Given the description of an element on the screen output the (x, y) to click on. 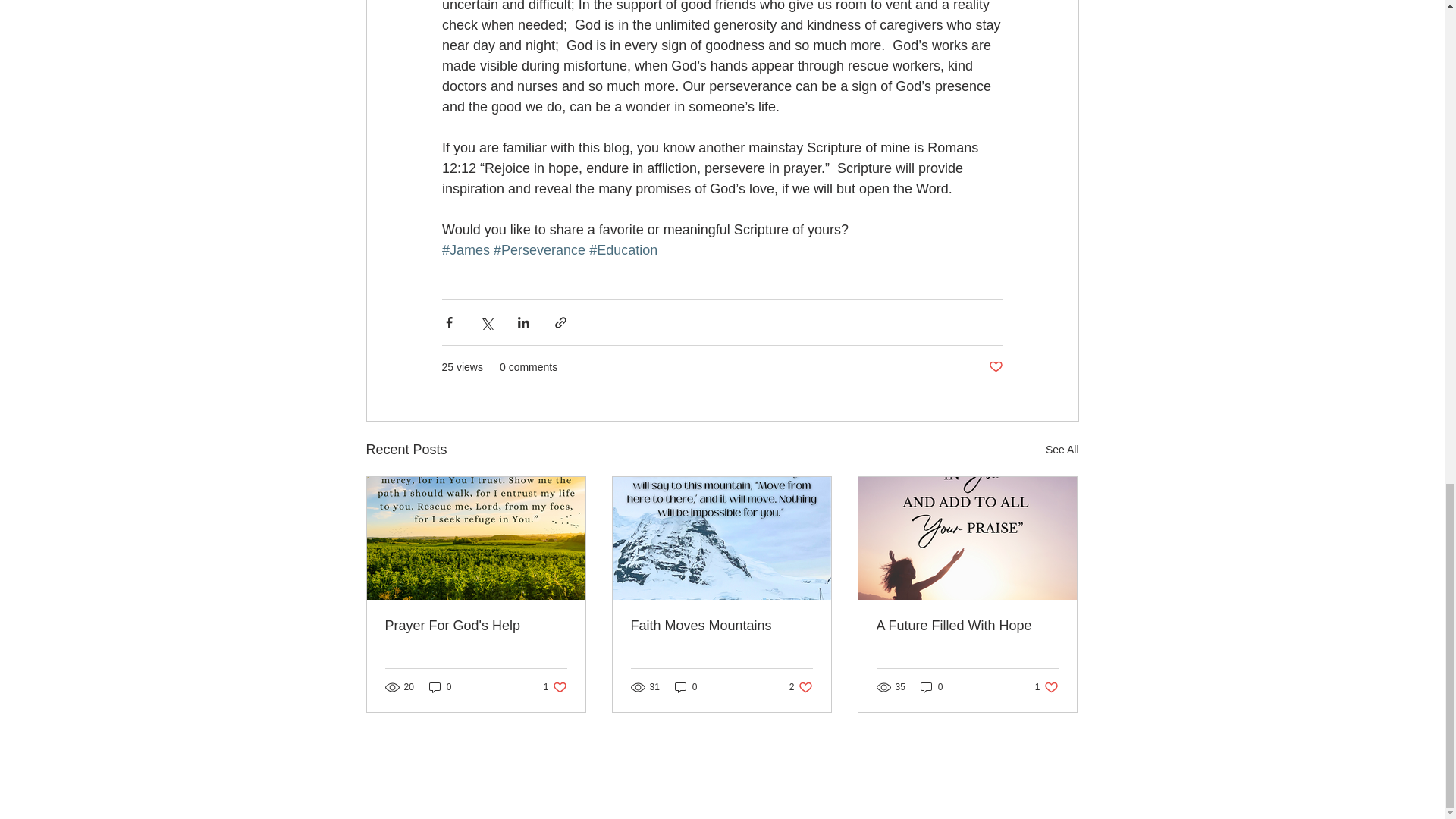
See All (1061, 449)
0 (440, 686)
Post not marked as liked (995, 367)
Prayer For God's Help (476, 625)
0 (931, 686)
A Future Filled With Hope (555, 686)
0 (800, 686)
